Given the description of an element on the screen output the (x, y) to click on. 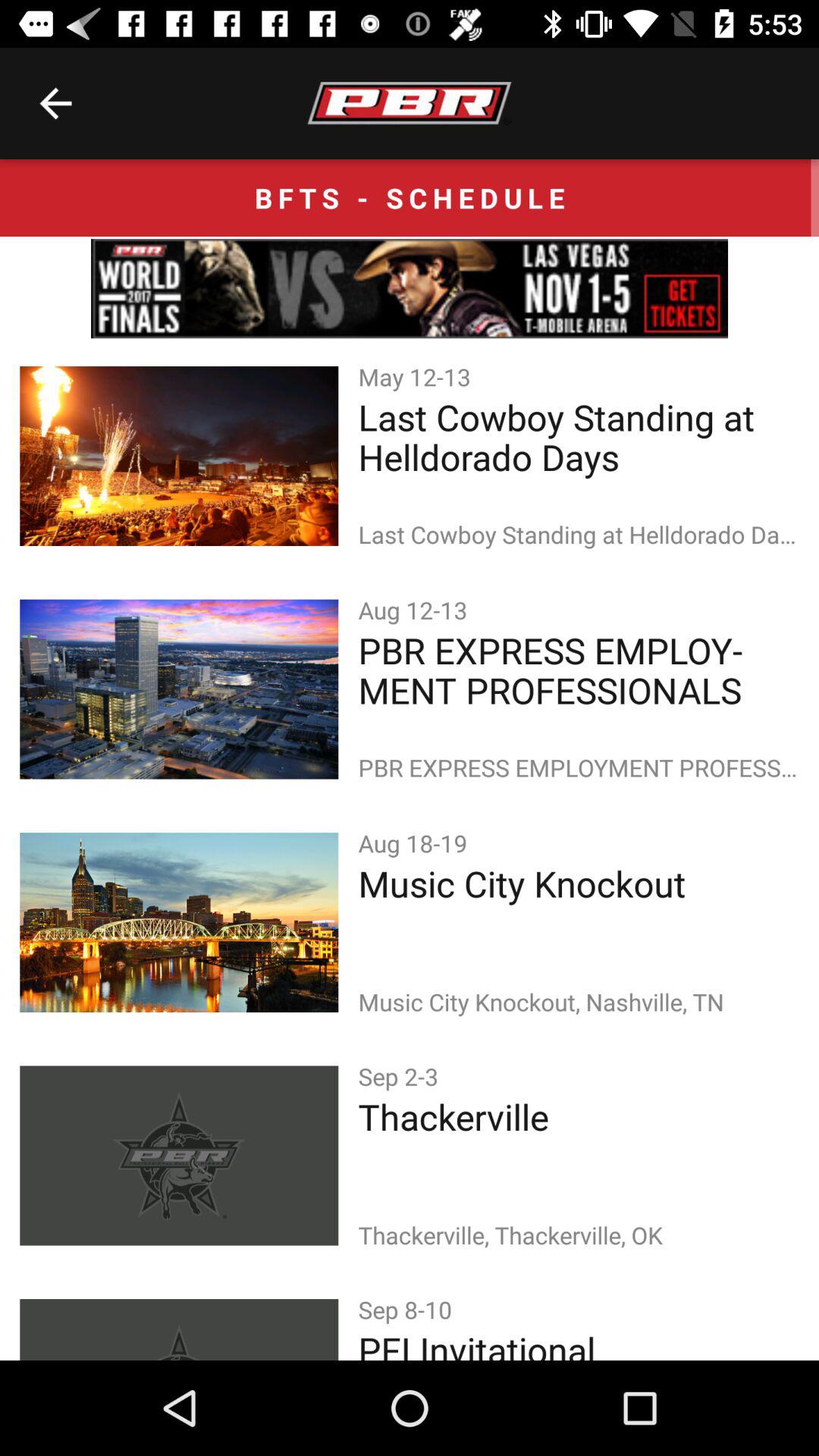
flip to aug 18-19 item (415, 842)
